Given the description of an element on the screen output the (x, y) to click on. 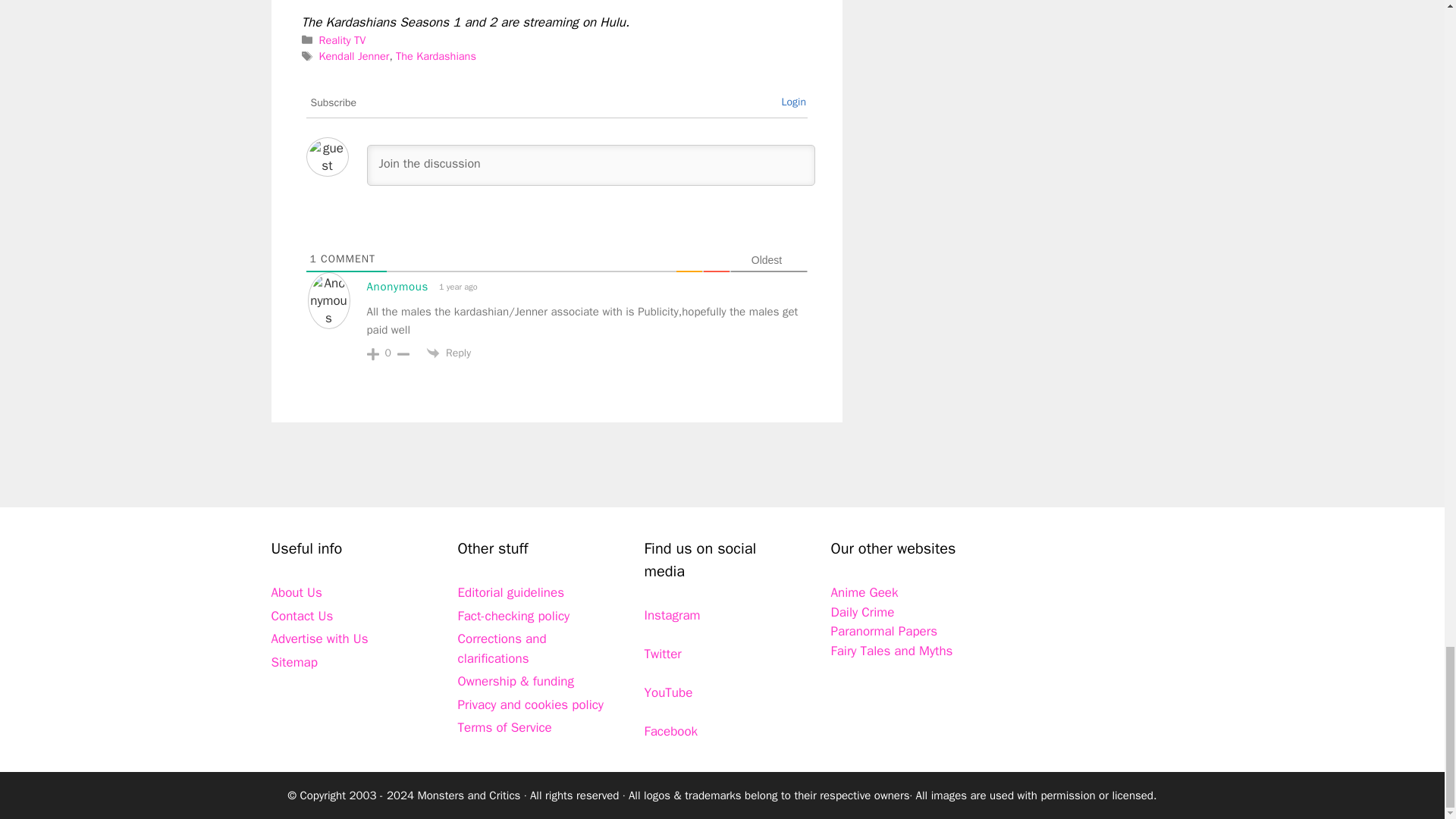
Corrections and clarifications (502, 648)
0 (387, 353)
Kendall Jenner (354, 56)
Advertise with Us (319, 638)
The Kardashians (436, 56)
2nd March 2023 7:36 pm EST (456, 287)
Fact-checking policy (514, 616)
Reality TV (342, 39)
Login (793, 101)
Sitemap (293, 662)
